Given the description of an element on the screen output the (x, y) to click on. 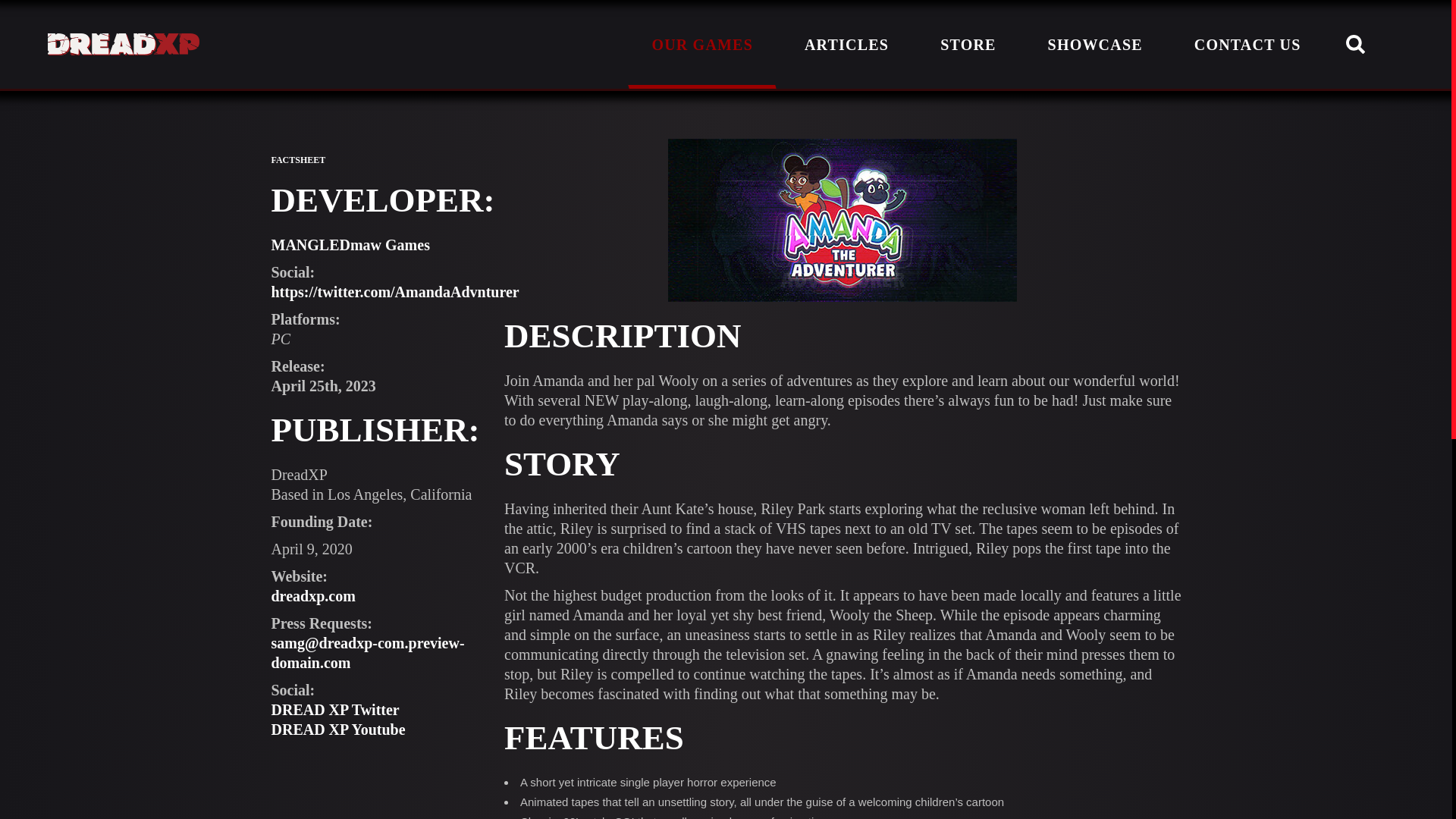
OUR GAMES (702, 44)
ARTICLES (846, 44)
CONTACT US (1247, 44)
Amanda the Adventurer header (842, 220)
STORE (967, 44)
SHOWCASE (1095, 44)
